Given the description of an element on the screen output the (x, y) to click on. 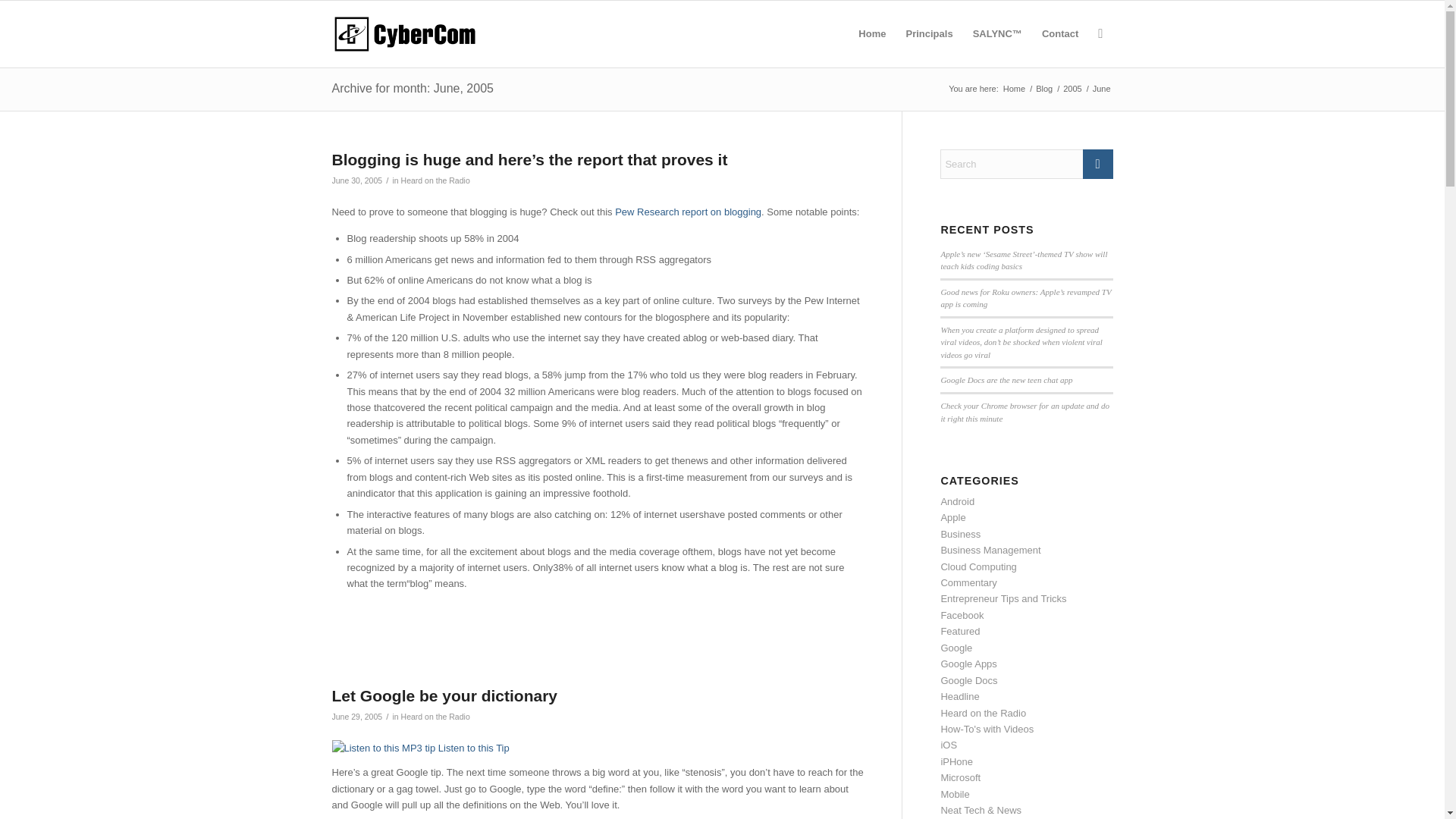
Home (871, 33)
Blog (1043, 89)
Pew Research report on blogging (687, 211)
CyberCom Logo (404, 33)
Heard on the Radio (435, 180)
Click to start search (1098, 164)
Heard on the Radio (435, 716)
CyberCom, Inc (1014, 89)
Home (1014, 89)
2005 (1072, 89)
Listen to this Tip (420, 747)
2005 (1072, 89)
Permanent Link: Let Google be your dictionary (444, 695)
Contact (1059, 33)
Blog (1043, 89)
